Given the description of an element on the screen output the (x, y) to click on. 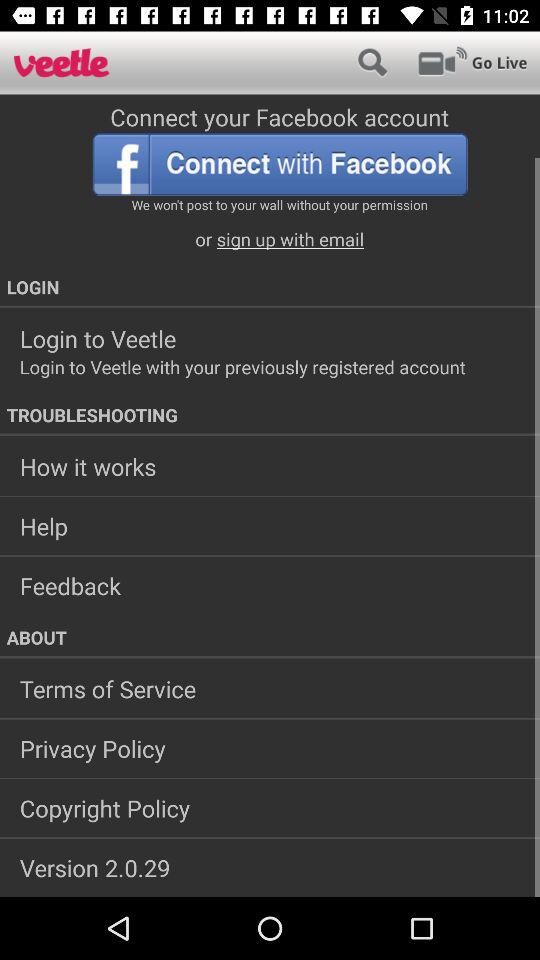
press app above the copyright policy app (270, 748)
